Given the description of an element on the screen output the (x, y) to click on. 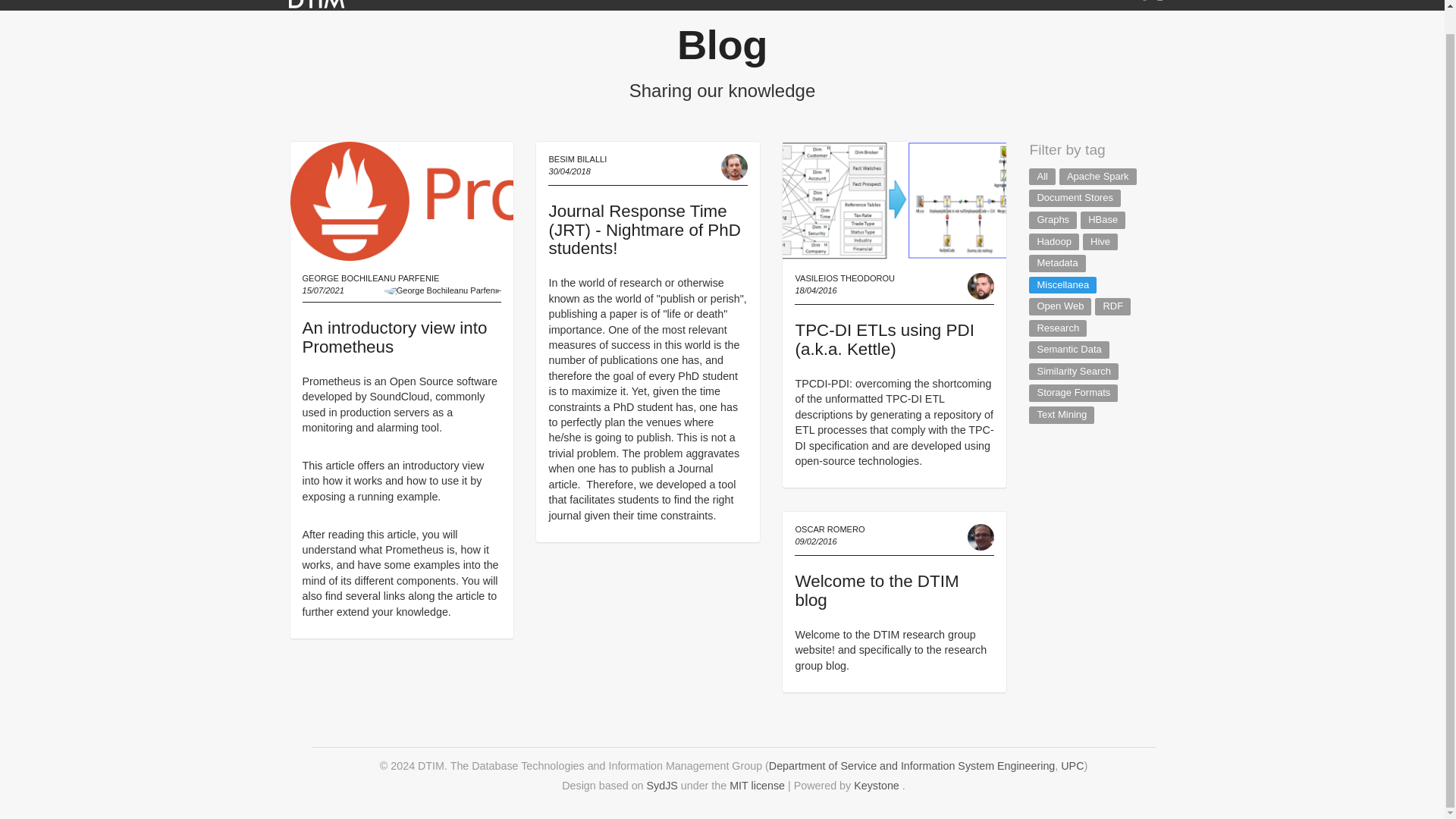
EVENTS (1015, 5)
Oscar Romero (981, 536)
PUBLICATIONS (592, 5)
RESEARCH (499, 5)
Research (1057, 328)
Similarity Search (1073, 371)
Hadoop (1053, 241)
GEORGE BOCHILEANU PARFENIE (370, 277)
BLOG (1075, 5)
Apache Spark (1098, 176)
An introductory view into Prometheus (393, 337)
Vasileios Theodorou (981, 285)
Hive (1100, 241)
TOOLS (831, 5)
All (1041, 176)
